Given the description of an element on the screen output the (x, y) to click on. 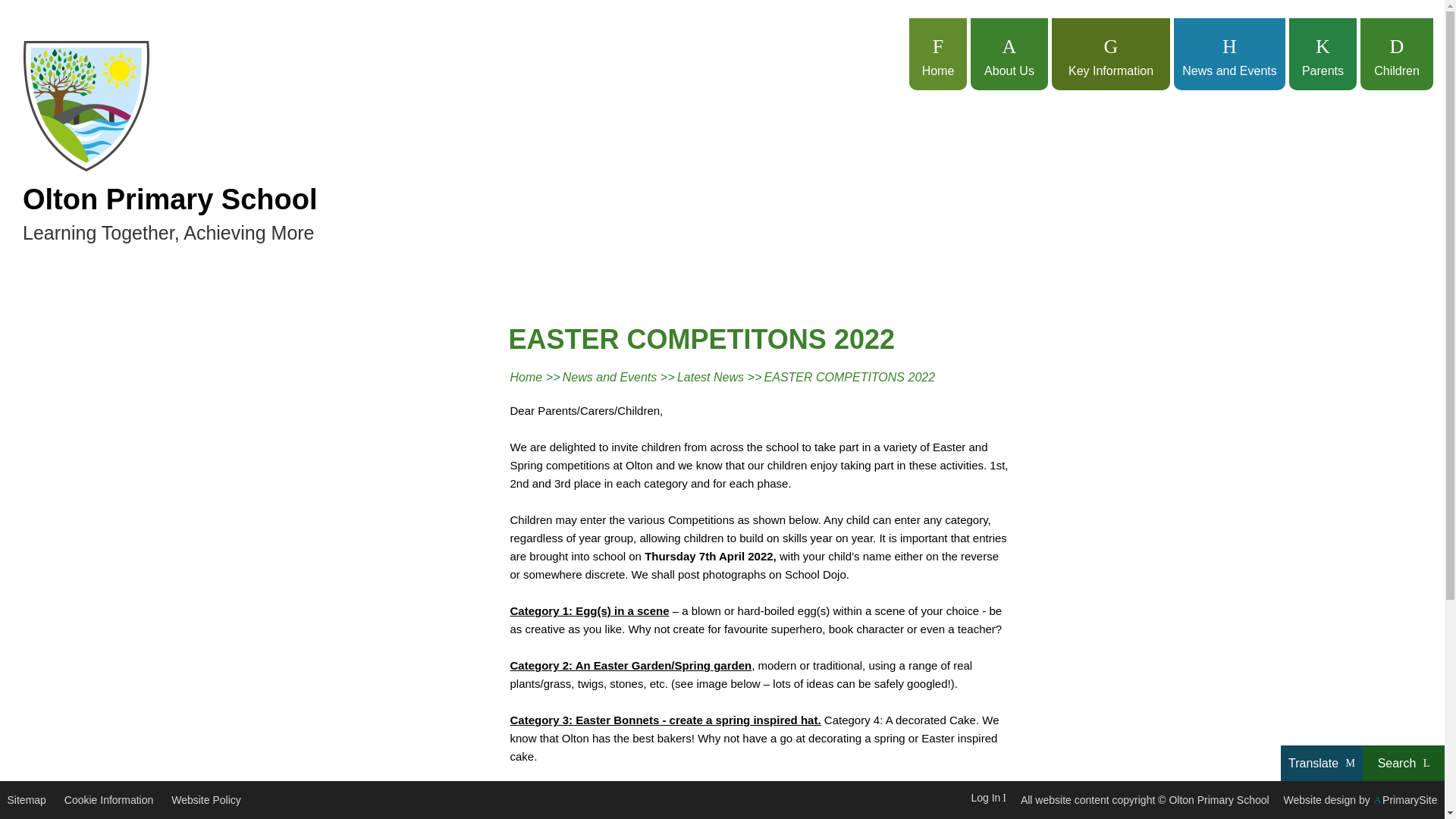
About Us (1009, 54)
Home Page (86, 105)
Key Information (1110, 54)
